Given the description of an element on the screen output the (x, y) to click on. 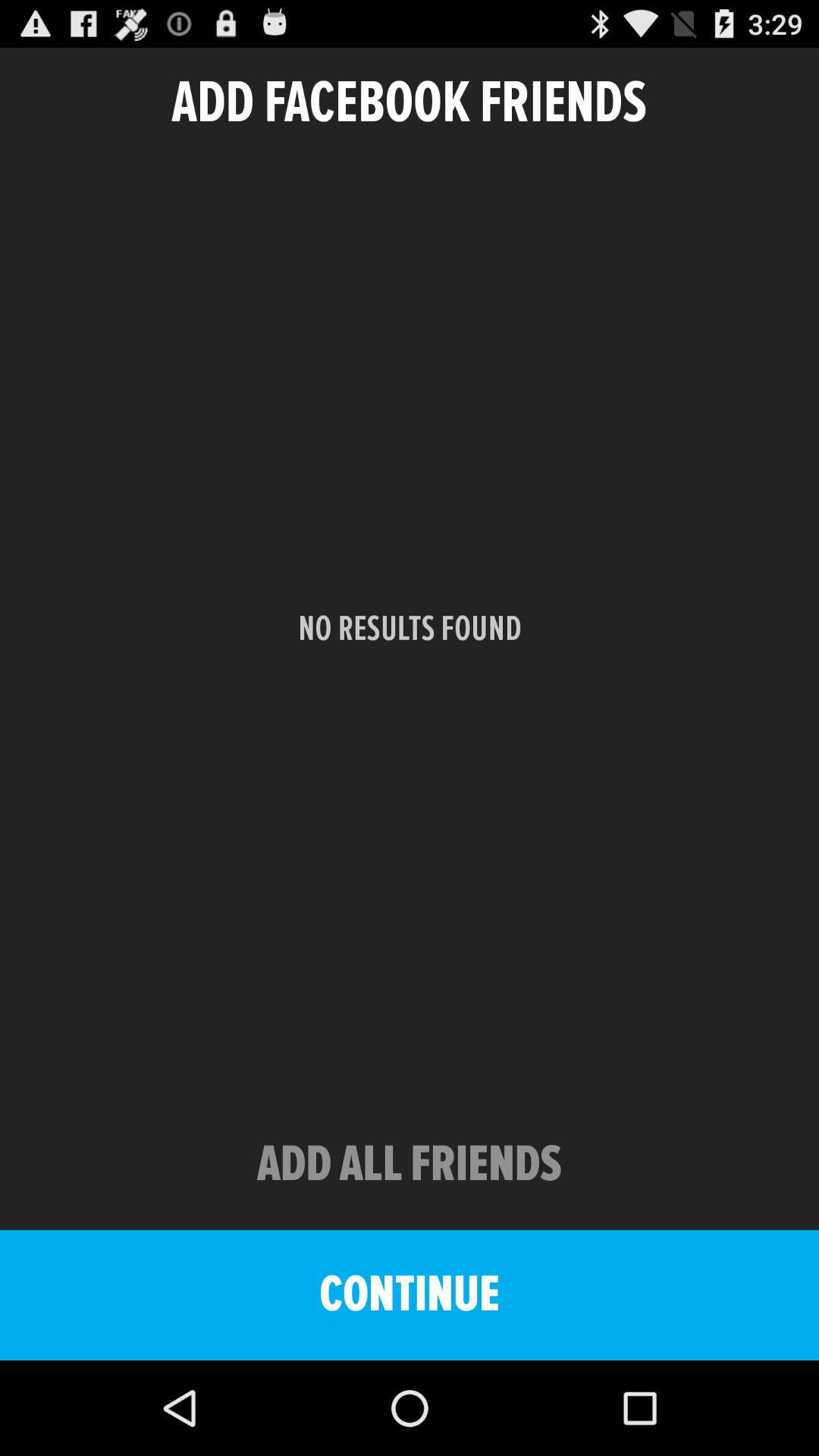
jump until continue item (409, 1295)
